Given the description of an element on the screen output the (x, y) to click on. 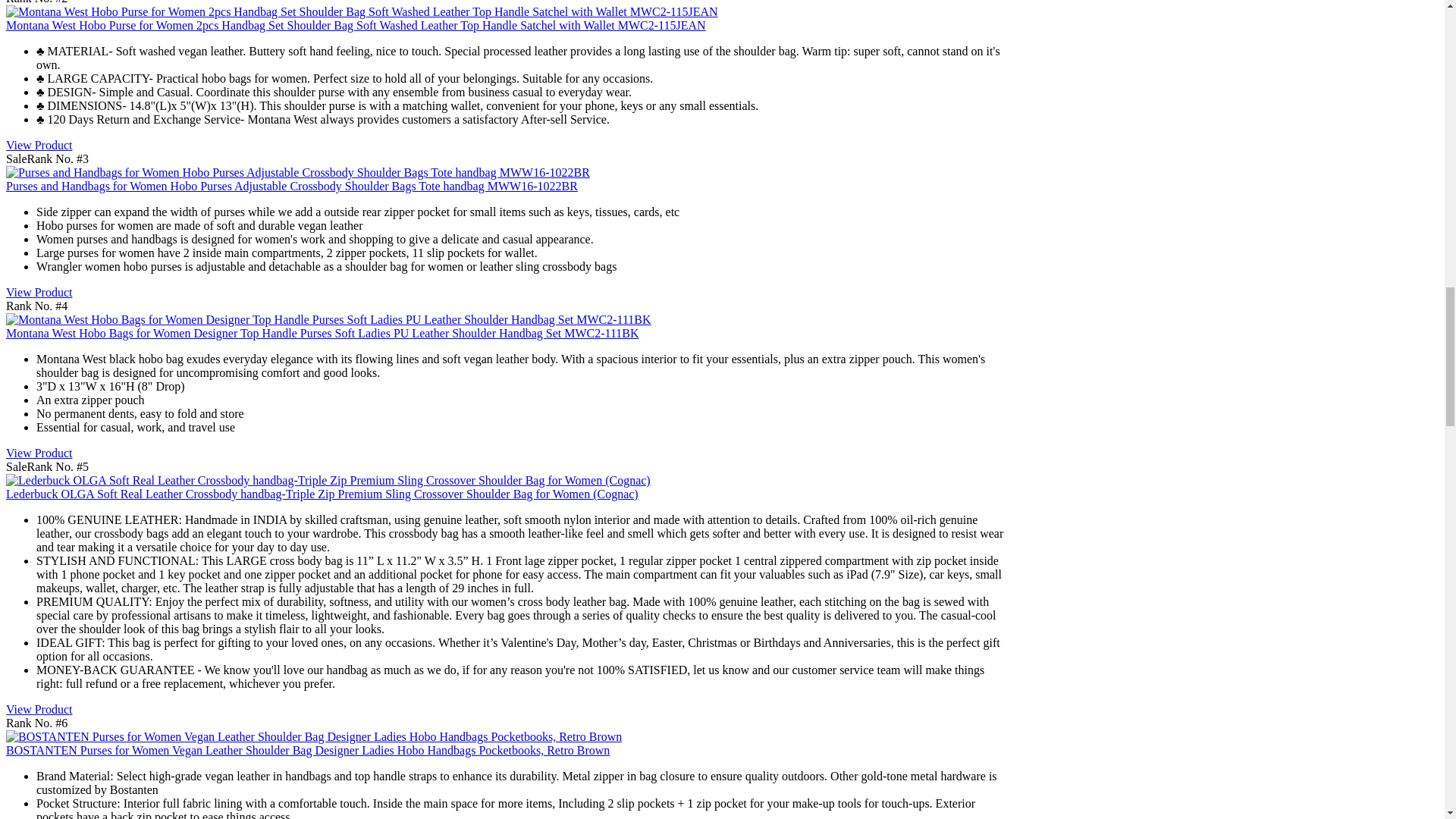
View Product (38, 144)
View Product (38, 291)
